Given the description of an element on the screen output the (x, y) to click on. 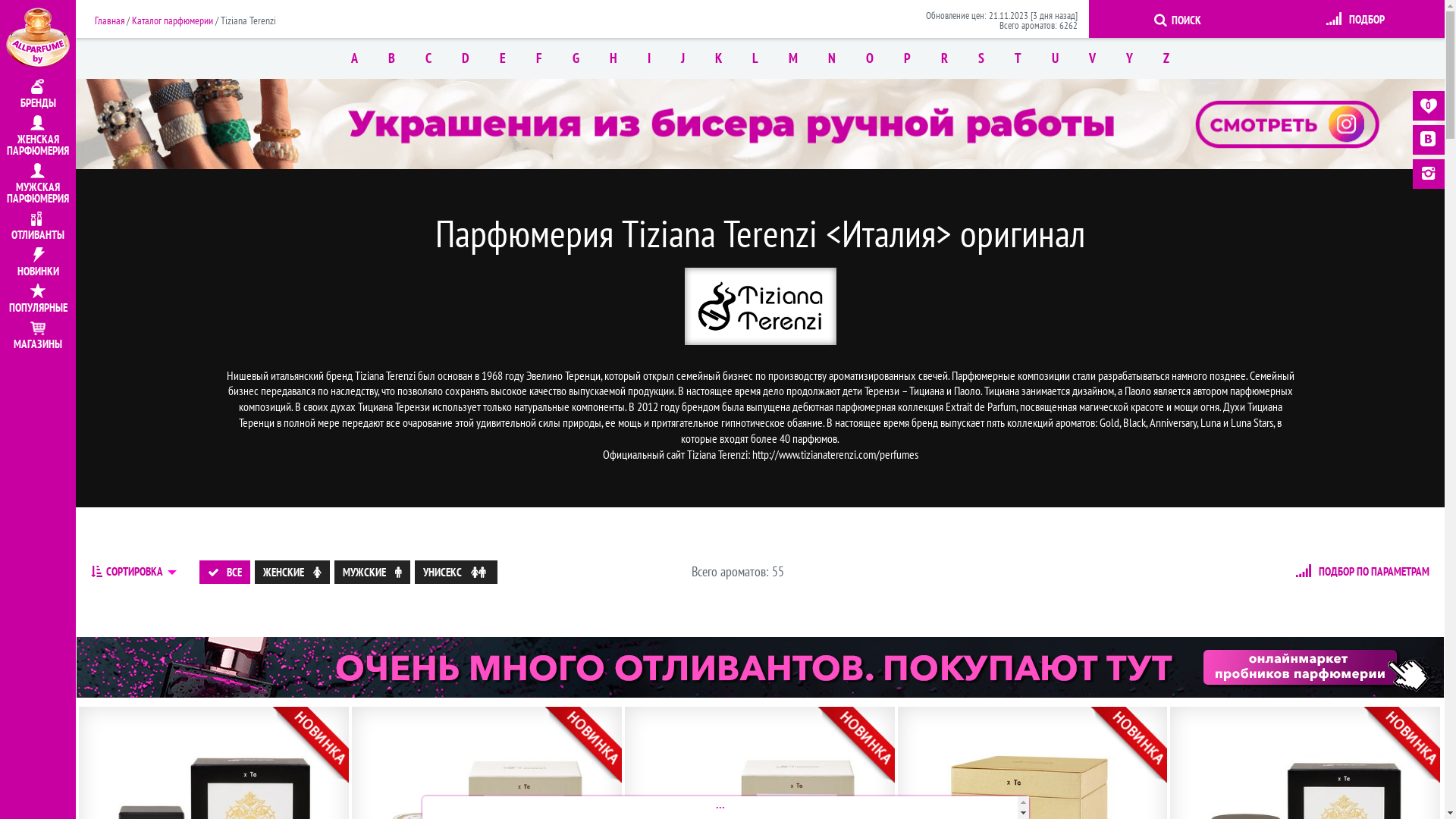
J Element type: text (682, 57)
E Element type: text (502, 57)
C Element type: text (428, 57)
H Element type: text (613, 57)
B Element type: text (391, 57)
R Element type: text (944, 57)
P Element type: text (906, 57)
N Element type: text (831, 57)
I Element type: text (648, 57)
Y Element type: text (1129, 57)
A Element type: text (354, 57)
M Element type: text (792, 57)
L Element type: text (755, 57)
U Element type: text (1054, 57)
Z Element type: text (1166, 57)
S Element type: text (981, 57)
V Element type: text (1091, 57)
O Element type: text (869, 57)
F Element type: text (538, 57)
D Element type: text (465, 57)
T Element type: text (1017, 57)
G Element type: text (575, 57)
K Element type: text (718, 57)
